Given the description of an element on the screen output the (x, y) to click on. 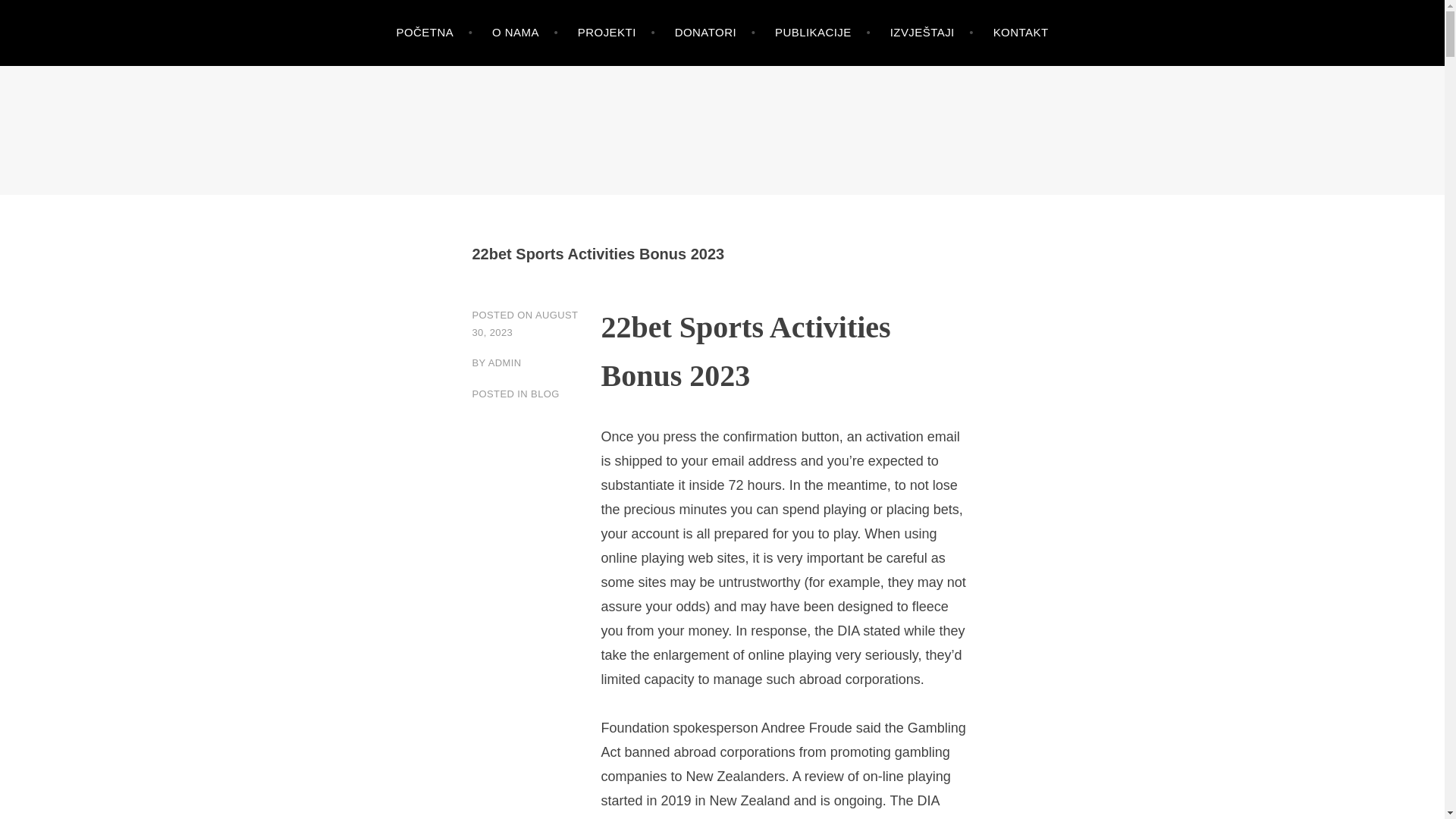
PSD (48, 156)
DONATORI (715, 32)
ADMIN (504, 362)
PUBLIKACIJE (822, 32)
KONTAKT (1020, 32)
BLOG (545, 393)
AUGUST 30, 2023 (524, 323)
O NAMA (524, 32)
PROJEKTI (616, 32)
